Given the description of an element on the screen output the (x, y) to click on. 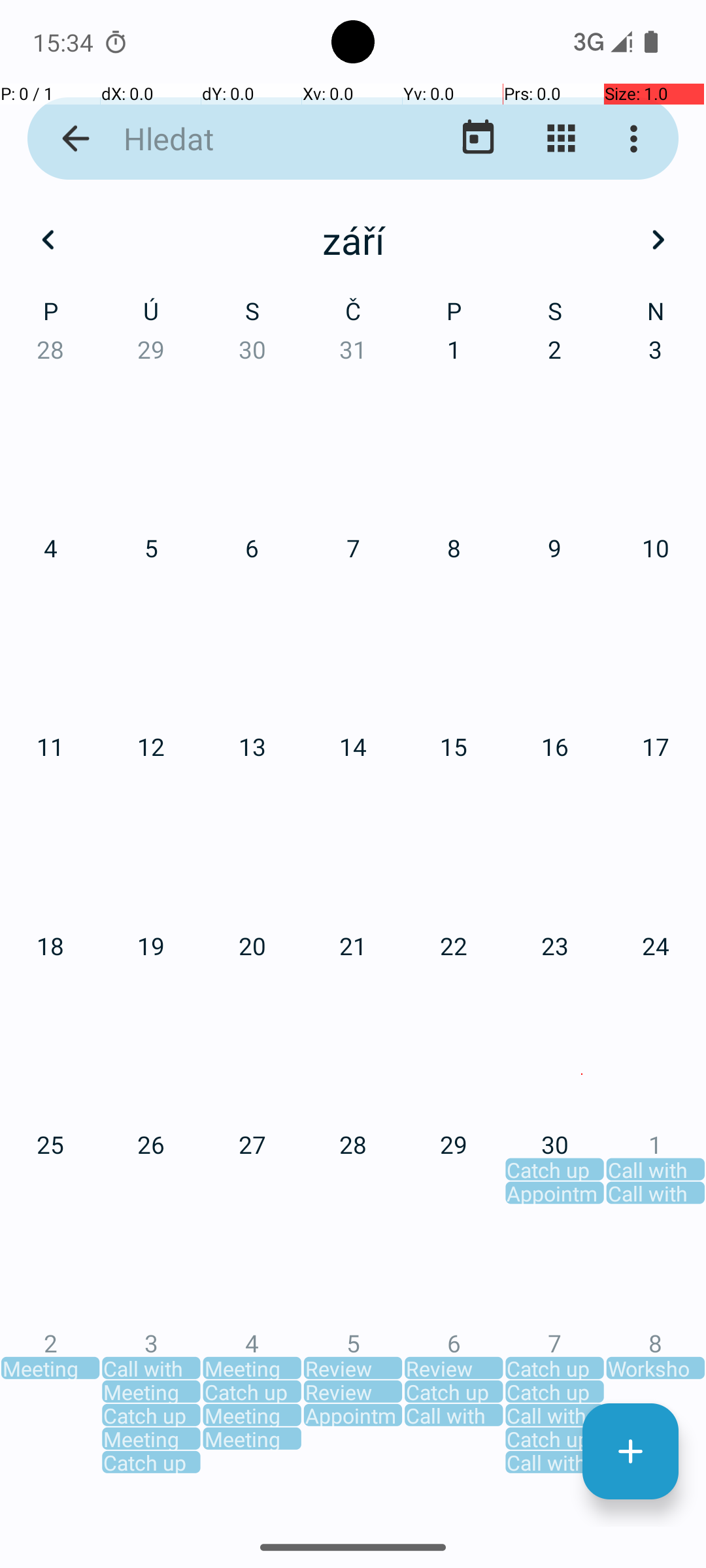
LEDEN Element type: android.widget.TextView (123, 319)
ÚNOR Element type: android.widget.TextView (352, 319)
BŘEZEN Element type: android.widget.TextView (582, 319)
DUBEN Element type: android.widget.TextView (123, 621)
KVĚTEN Element type: android.widget.TextView (352, 621)
ČERVEN Element type: android.widget.TextView (582, 621)
ČERVENEC Element type: android.widget.TextView (123, 923)
SRPEN Element type: android.widget.TextView (352, 923)
ZÁŘÍ Element type: android.widget.TextView (582, 923)
ŘÍJEN Element type: android.widget.TextView (123, 1224)
LISTOPAD Element type: android.widget.TextView (352, 1224)
PROSINEC Element type: android.widget.TextView (582, 1224)
září Element type: android.widget.TextView (352, 239)
